Given the description of an element on the screen output the (x, y) to click on. 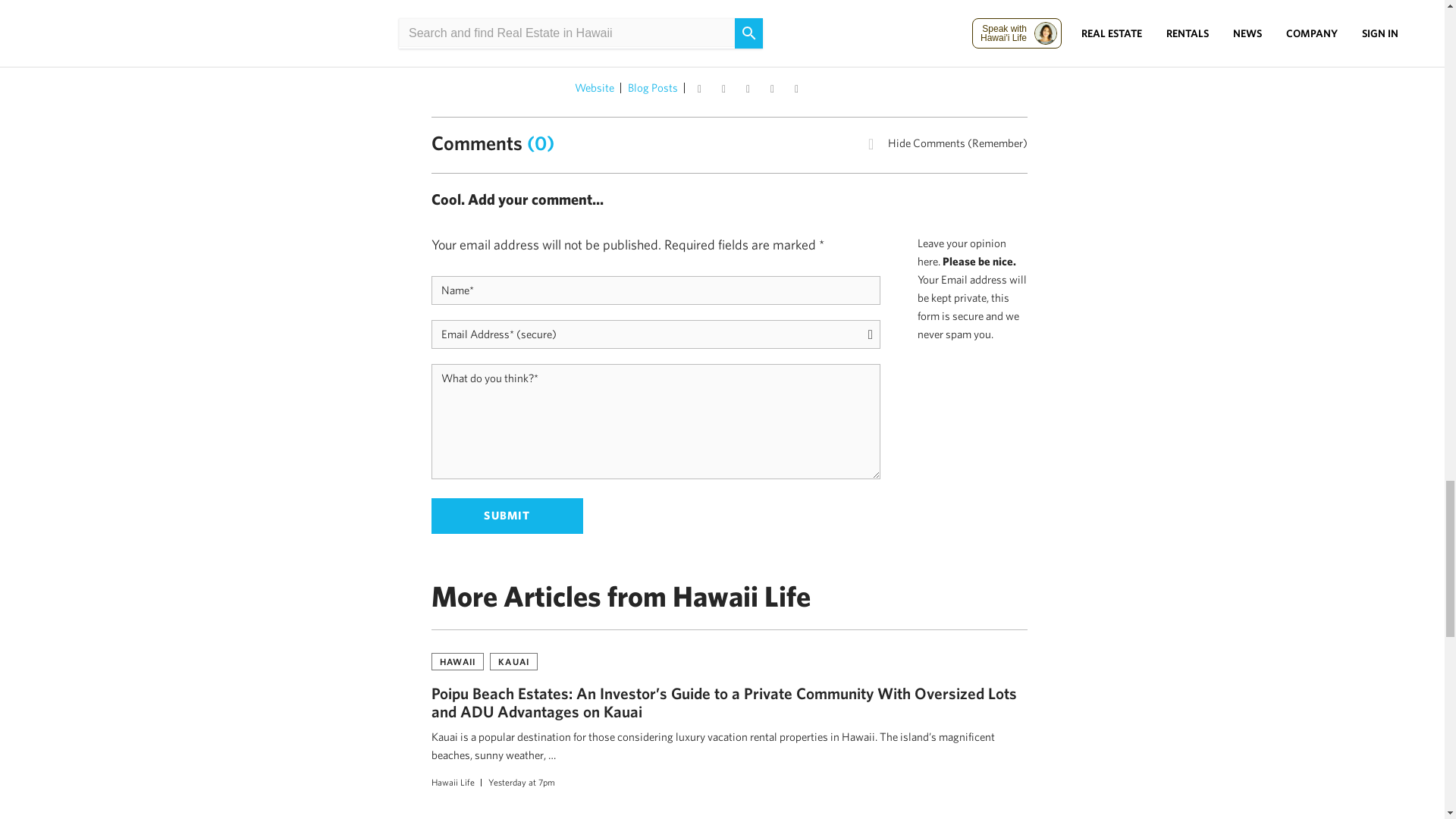
Submit (506, 515)
